Given the description of an element on the screen output the (x, y) to click on. 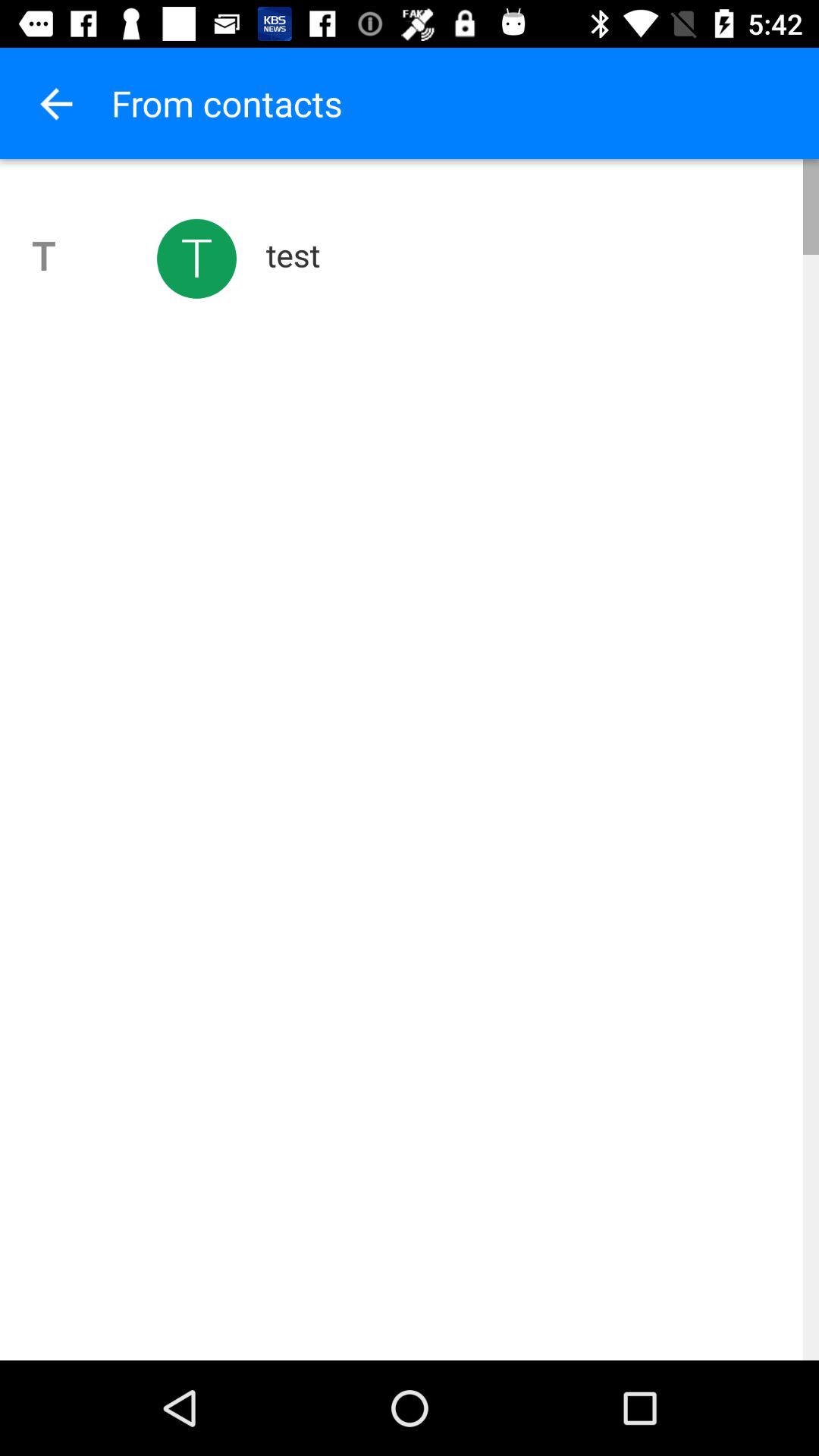
choose item next to from contacts icon (55, 103)
